Given the description of an element on the screen output the (x, y) to click on. 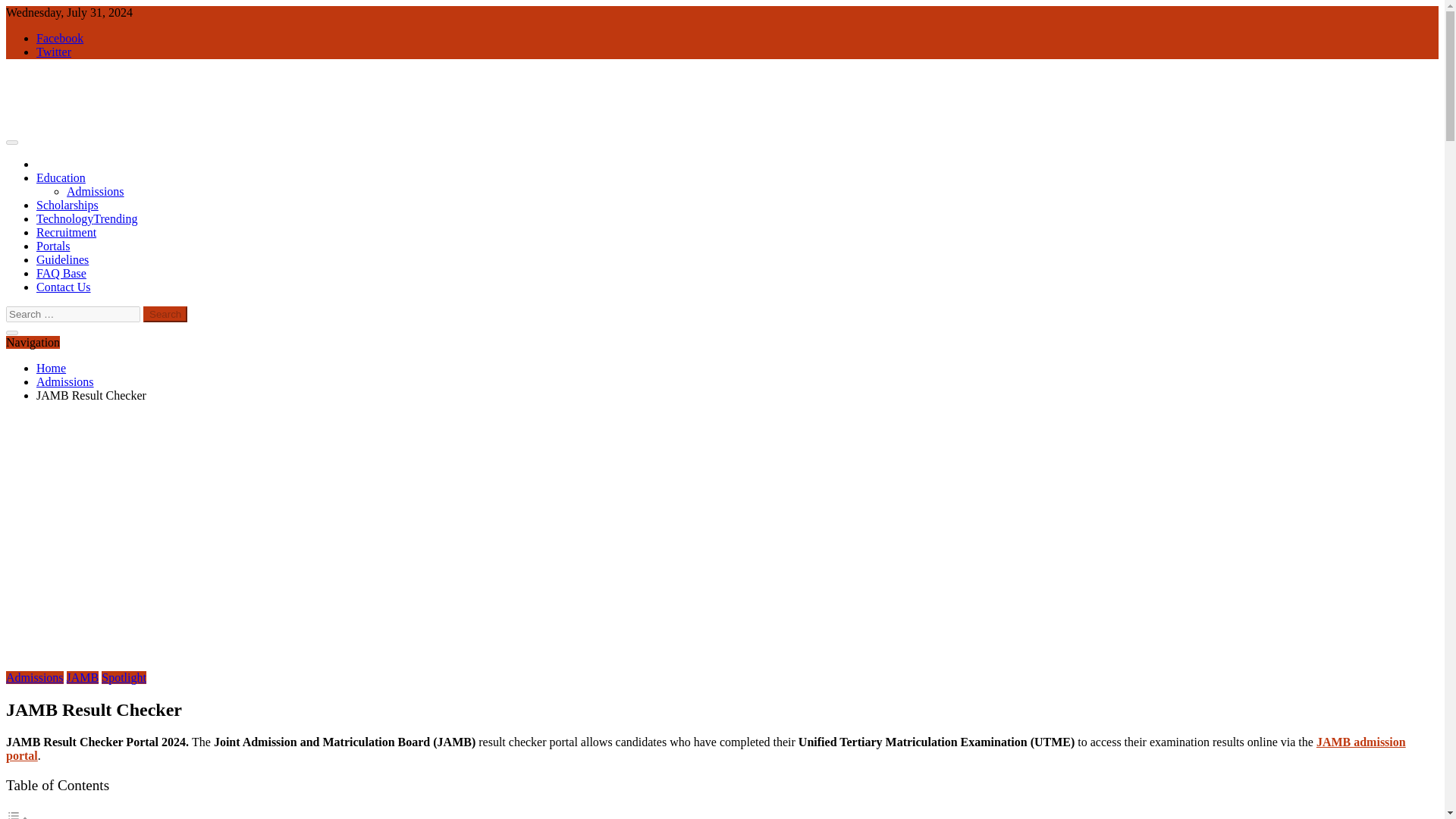
Contact Us (63, 286)
Portals (52, 245)
Education (60, 177)
JAMB (82, 676)
Infopeeps (29, 150)
Guidelines (62, 259)
Admissions (34, 676)
Twitter (53, 51)
Admissions (94, 191)
Home (50, 367)
Search (164, 314)
Search (164, 314)
Facebook (59, 38)
Recruitment (66, 232)
Search (164, 314)
